Given the description of an element on the screen output the (x, y) to click on. 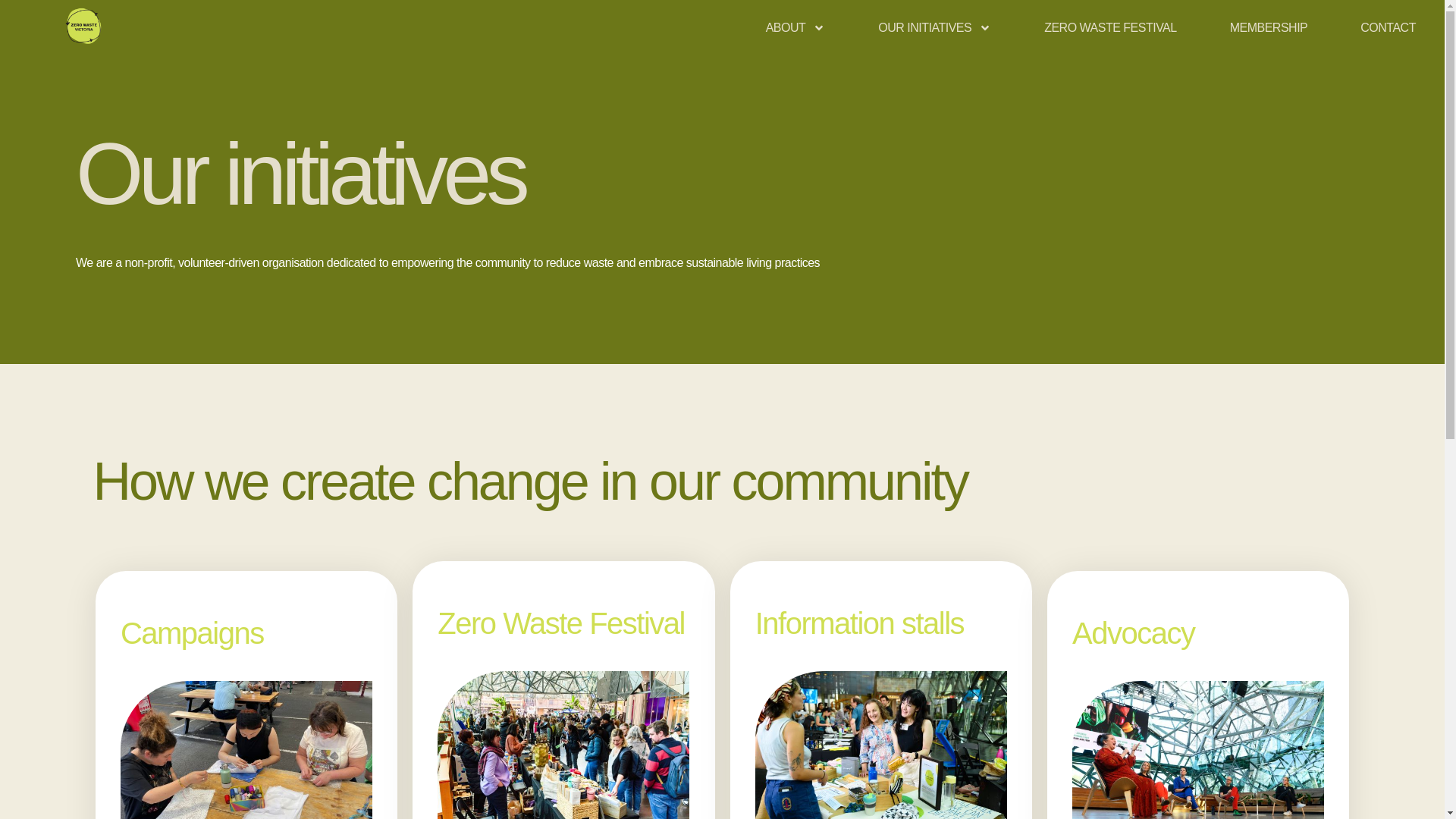
ZERO WASTE FESTIVAL (1109, 27)
ABOUT (795, 27)
CONTACT (1387, 27)
MEMBERSHIP (1268, 27)
OUR INITIATIVES (934, 27)
